Given the description of an element on the screen output the (x, y) to click on. 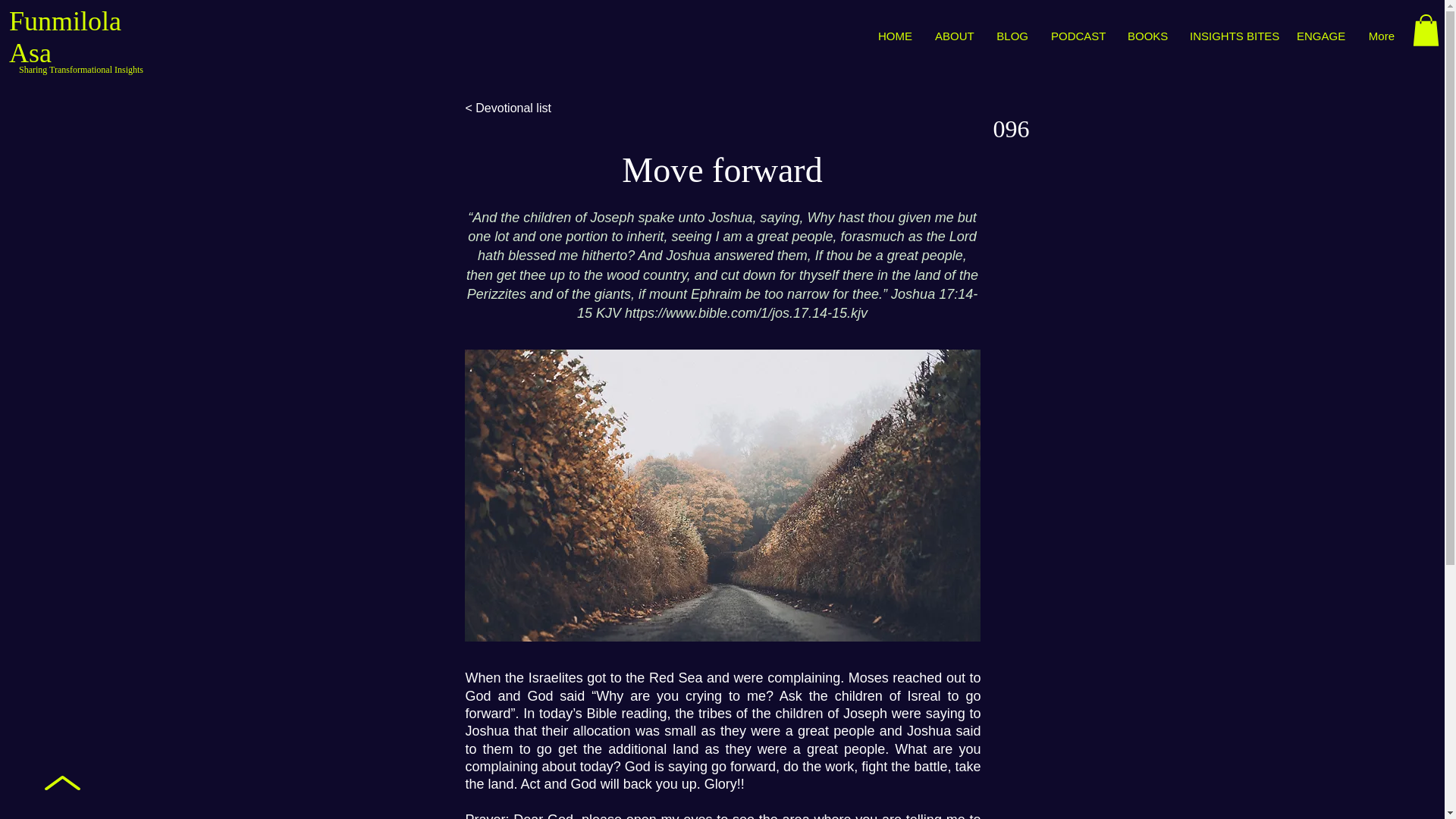
HOME (894, 36)
BLOG (1012, 36)
BOOKS (1146, 36)
Funmilola Asa  (64, 36)
ENGAGE (1320, 36)
PODCAST (1077, 36)
ABOUT (954, 36)
